Given the description of an element on the screen output the (x, y) to click on. 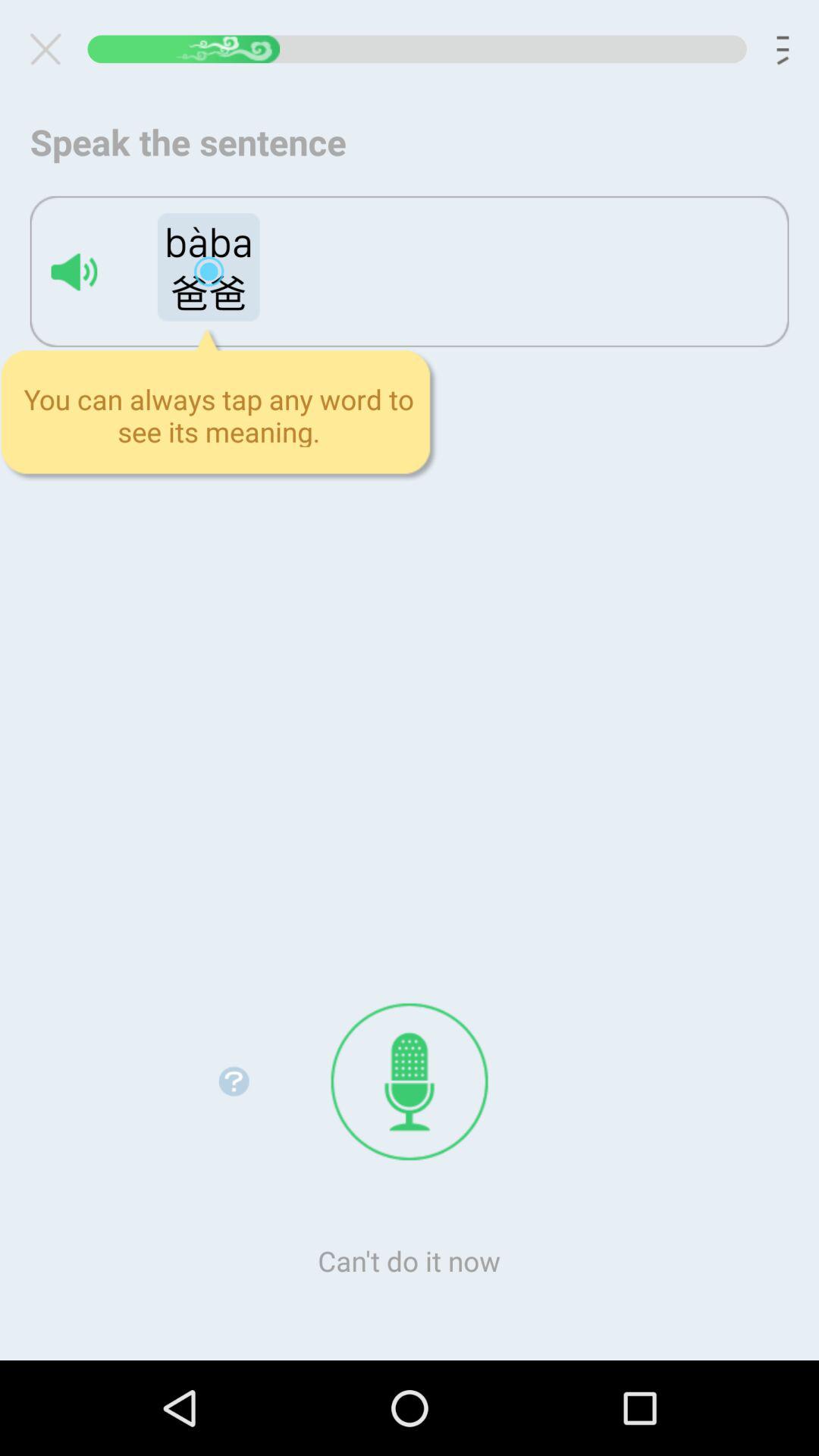
closes the app (51, 49)
